Given the description of an element on the screen output the (x, y) to click on. 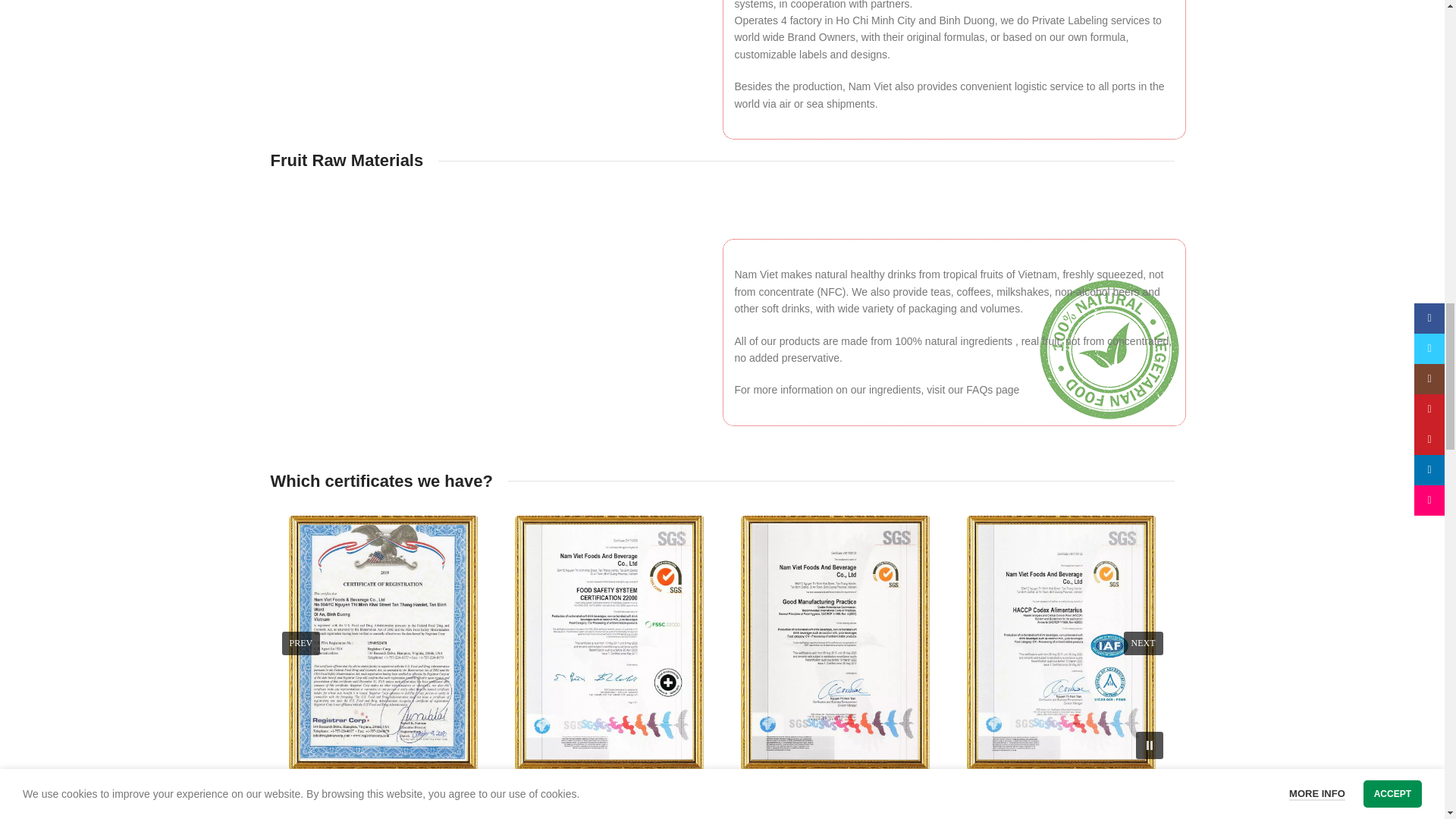
Fruit Raw Materials (489, 319)
FDA VINUT JUICE (382, 642)
